Given the description of an element on the screen output the (x, y) to click on. 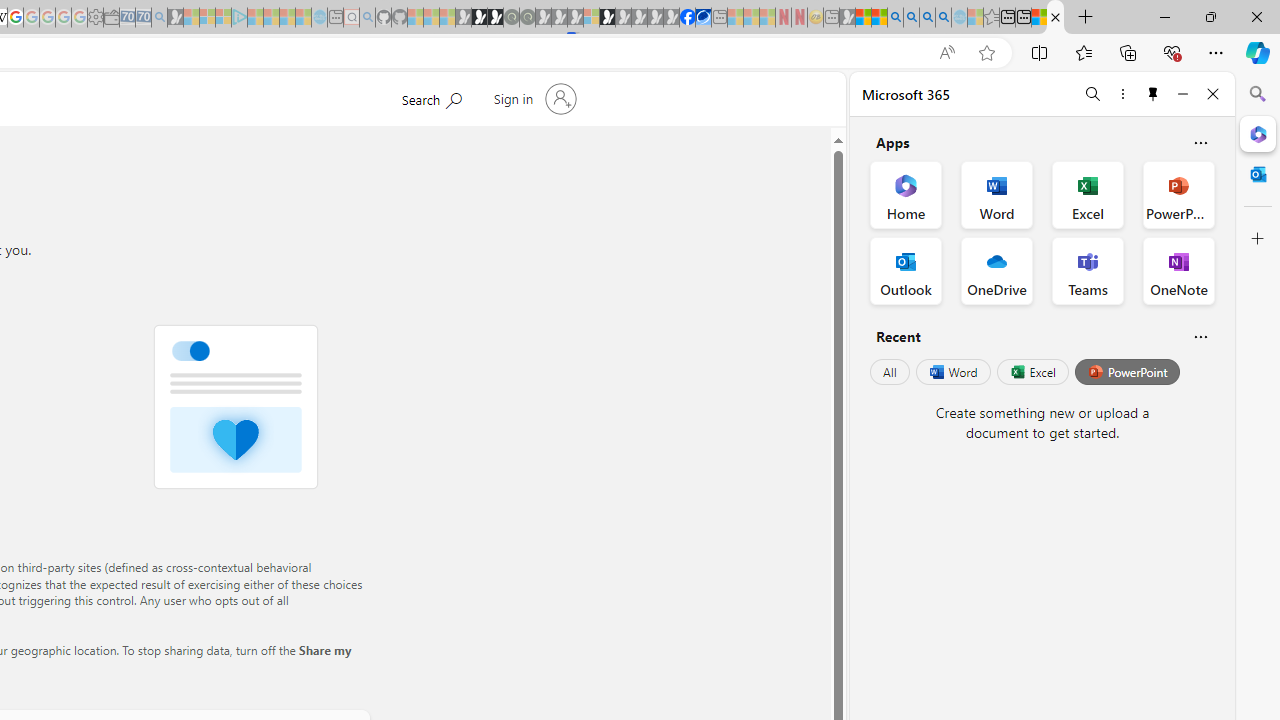
Is this helpful? (1200, 336)
PowerPoint Office App (1178, 194)
